Given the description of an element on the screen output the (x, y) to click on. 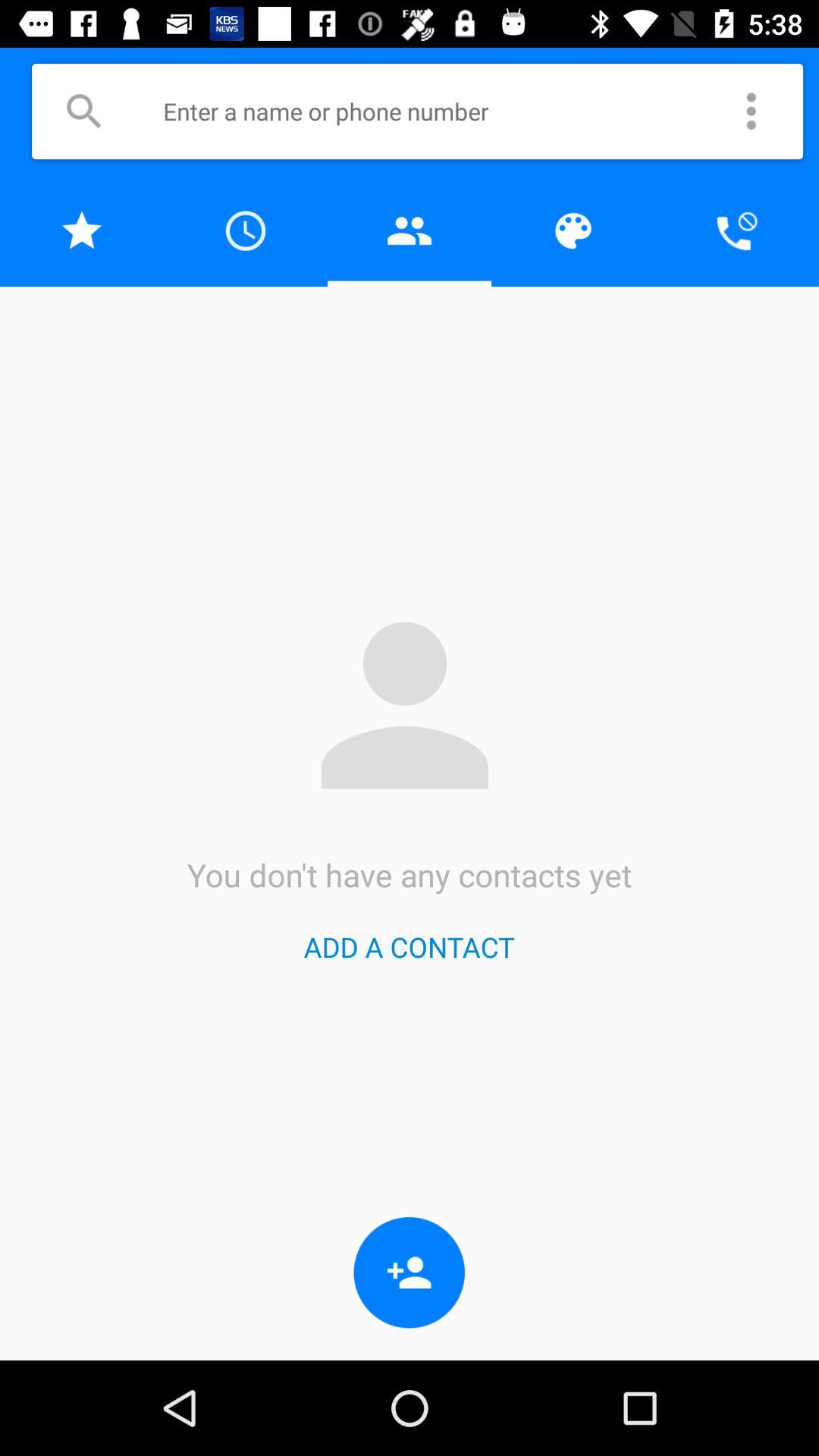
search contact (439, 110)
